Given the description of an element on the screen output the (x, y) to click on. 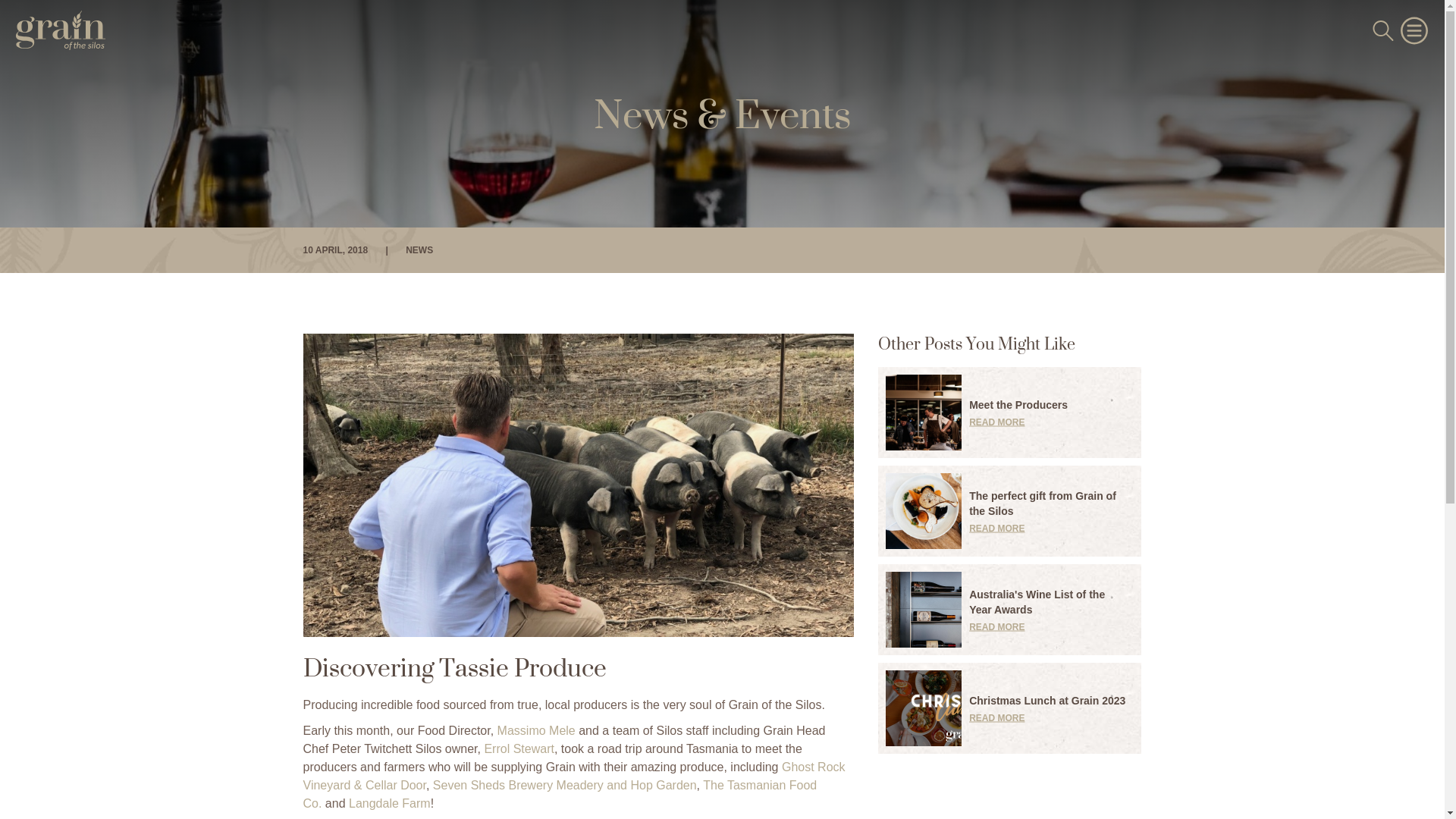
Christmas Lunch at Grain 2023
READ MORE Element type: text (1009, 707)
NEWS Element type: text (419, 250)
Australia's Wine List of the Year Awards
READ MORE Element type: text (1009, 609)
Errol Stewart Element type: text (518, 748)
The Tasmanian Food Co. Element type: text (560, 793)
Massimo Mele Element type: text (536, 730)
Langdale Farm Element type: text (389, 803)
Ghost Rock Vineyard & Cellar Door Element type: text (574, 775)
The perfect gift from Grain of the Silos
READ MORE Element type: text (1009, 510)
Seven Sheds Brewery Meadery and Hop Garden Element type: text (564, 784)
Meet the Producers
READ MORE Element type: text (1009, 412)
